Given the description of an element on the screen output the (x, y) to click on. 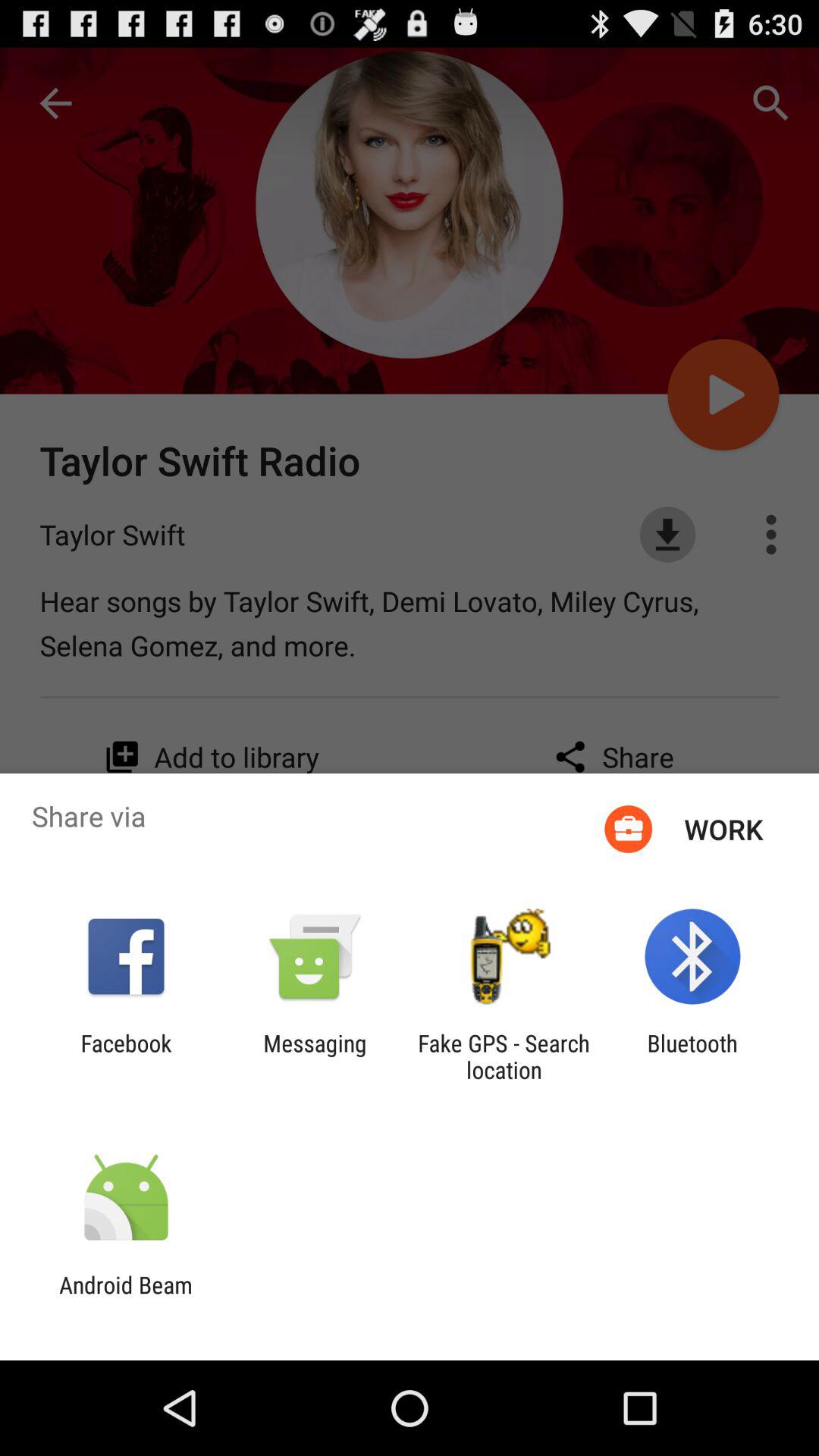
tap android beam item (125, 1298)
